Given the description of an element on the screen output the (x, y) to click on. 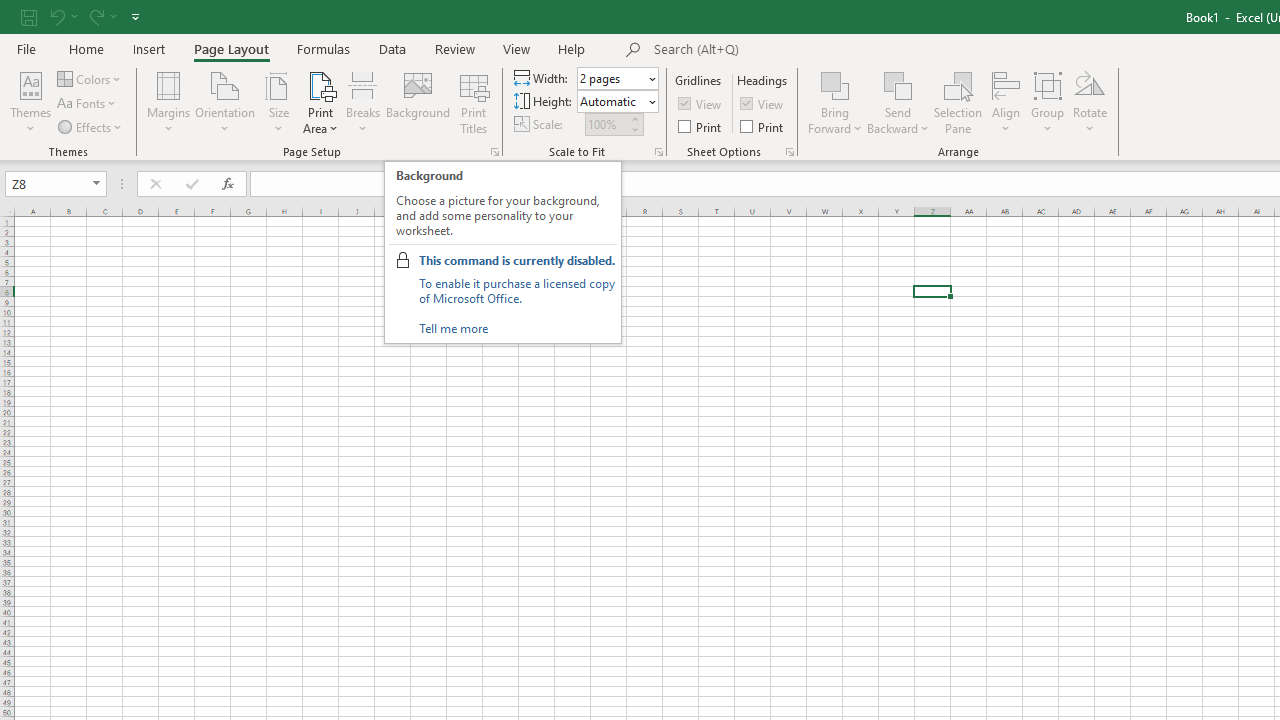
Less (633, 129)
Send Backward (898, 102)
Margins (168, 102)
Bring Forward (835, 102)
Page Setup (658, 151)
Print (763, 126)
Effects (91, 126)
Group (1047, 102)
Width (611, 78)
